Given the description of an element on the screen output the (x, y) to click on. 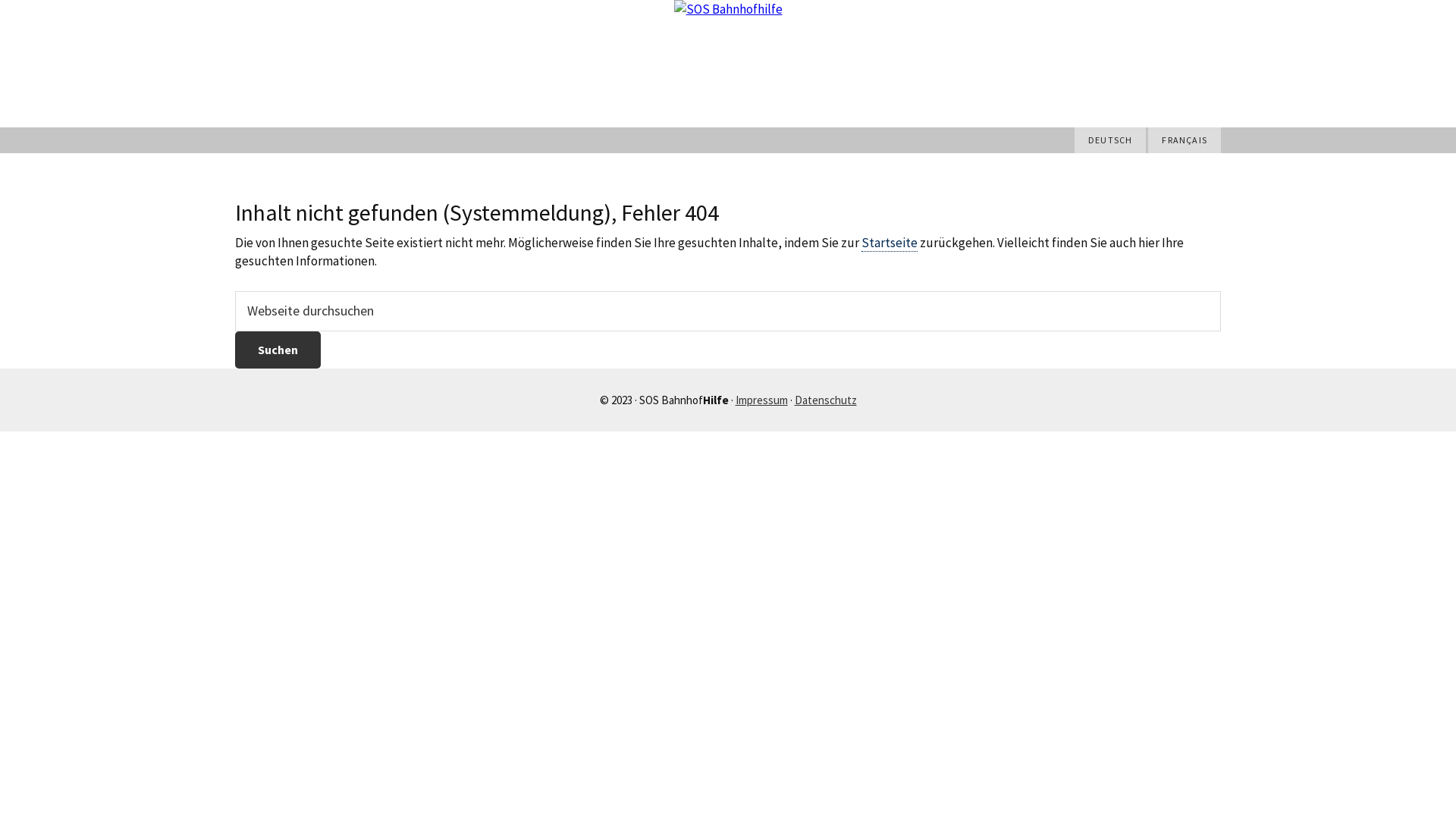
Startseite Element type: text (889, 242)
Impressum Element type: text (761, 399)
DEUTSCH Element type: text (1109, 140)
Datenschutz Element type: text (825, 399)
Suchen Element type: text (277, 349)
Zur Hauptnavigation springen Element type: text (0, 0)
